Given the description of an element on the screen output the (x, y) to click on. 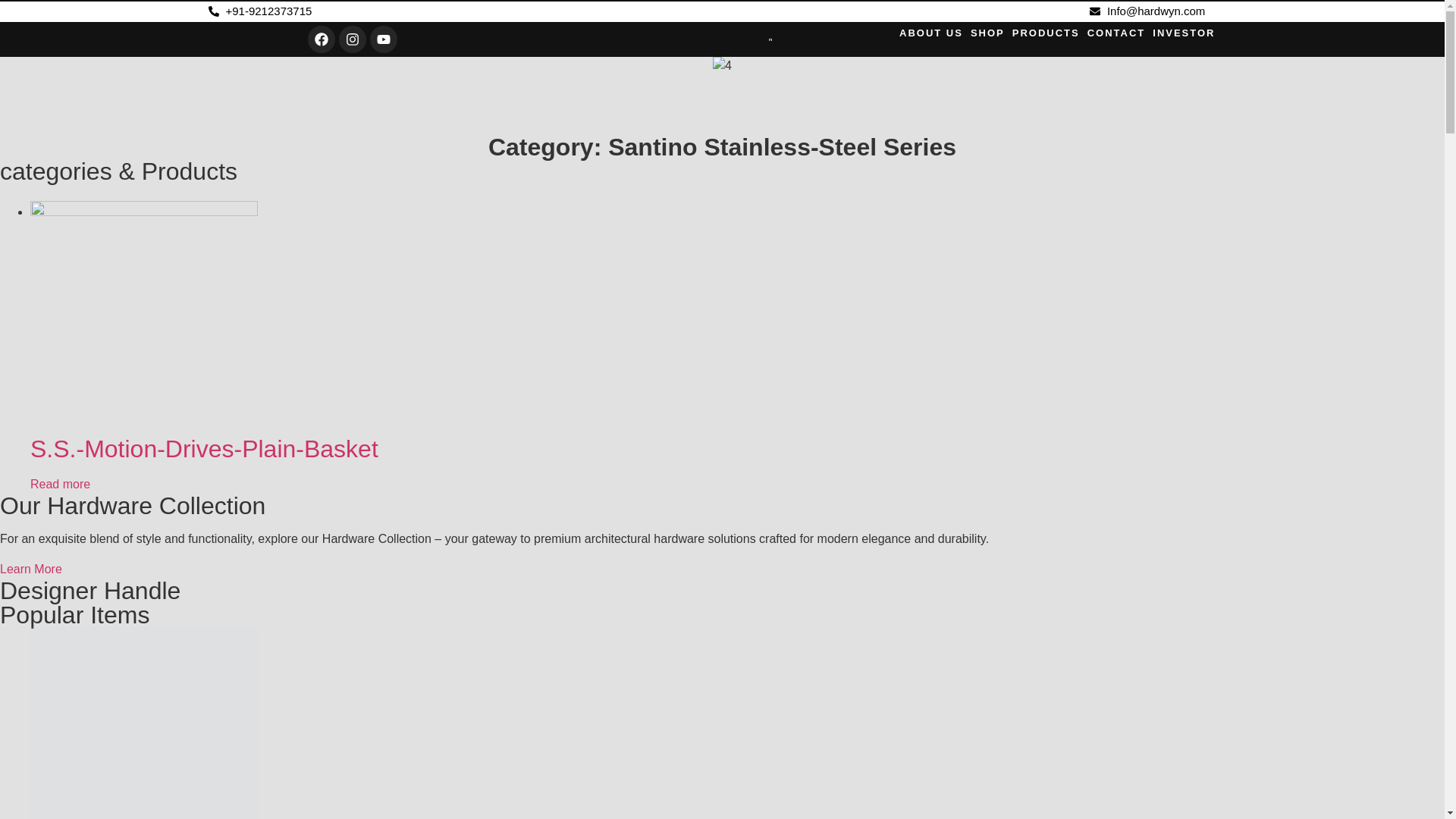
INVESTOR (1183, 32)
SHOP (987, 32)
ABOUT US (930, 32)
PRODUCTS (1045, 32)
CONTACT (1116, 32)
